Given the description of an element on the screen output the (x, y) to click on. 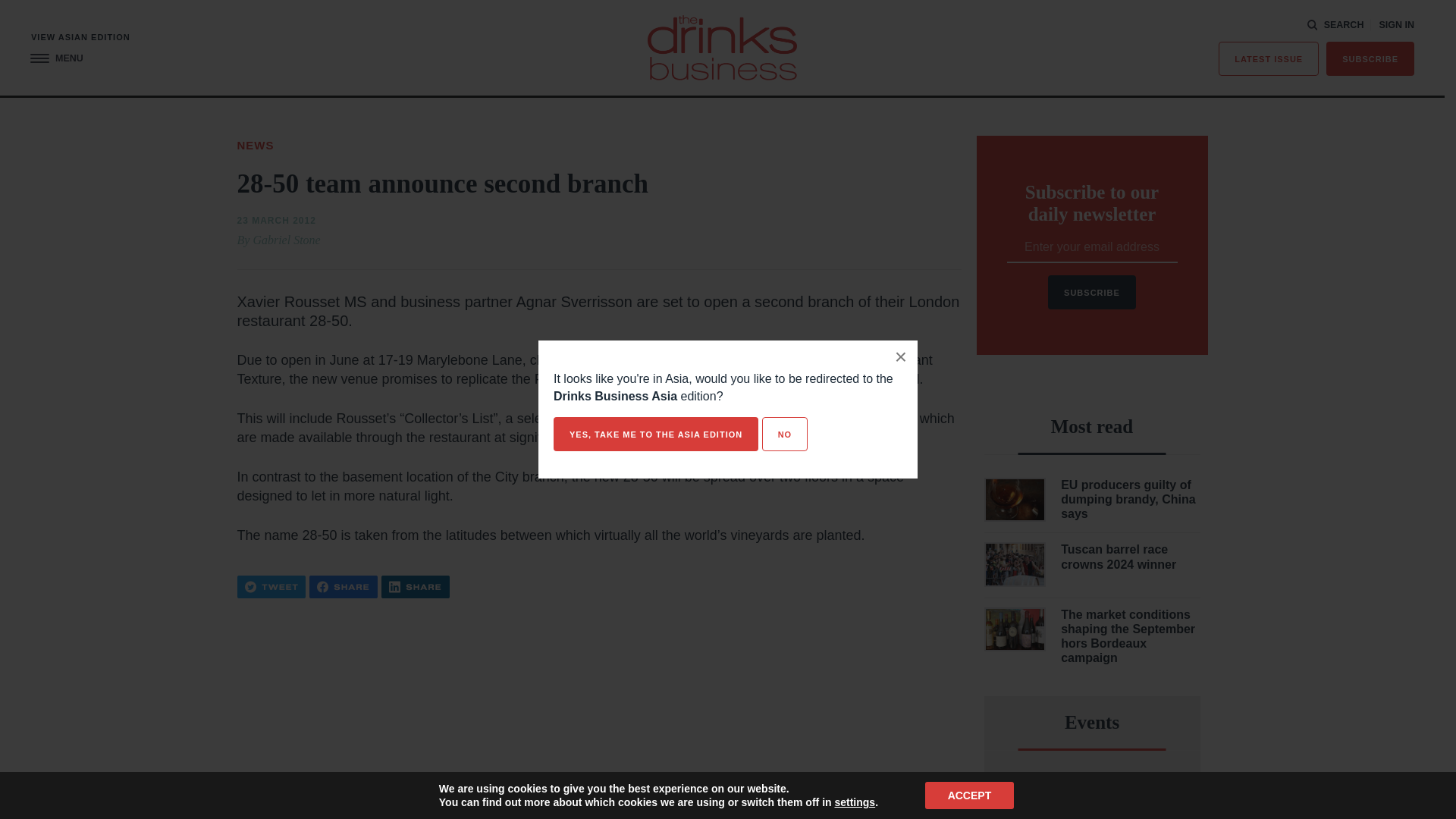
LATEST ISSUE (1268, 58)
VIEW ASIAN EDITION (80, 37)
SUBSCRIBE (1369, 58)
YES, TAKE ME TO THE ASIA EDITION (655, 433)
The Drinks Business (721, 47)
NO (784, 433)
SIGN IN (1395, 25)
